Given the description of an element on the screen output the (x, y) to click on. 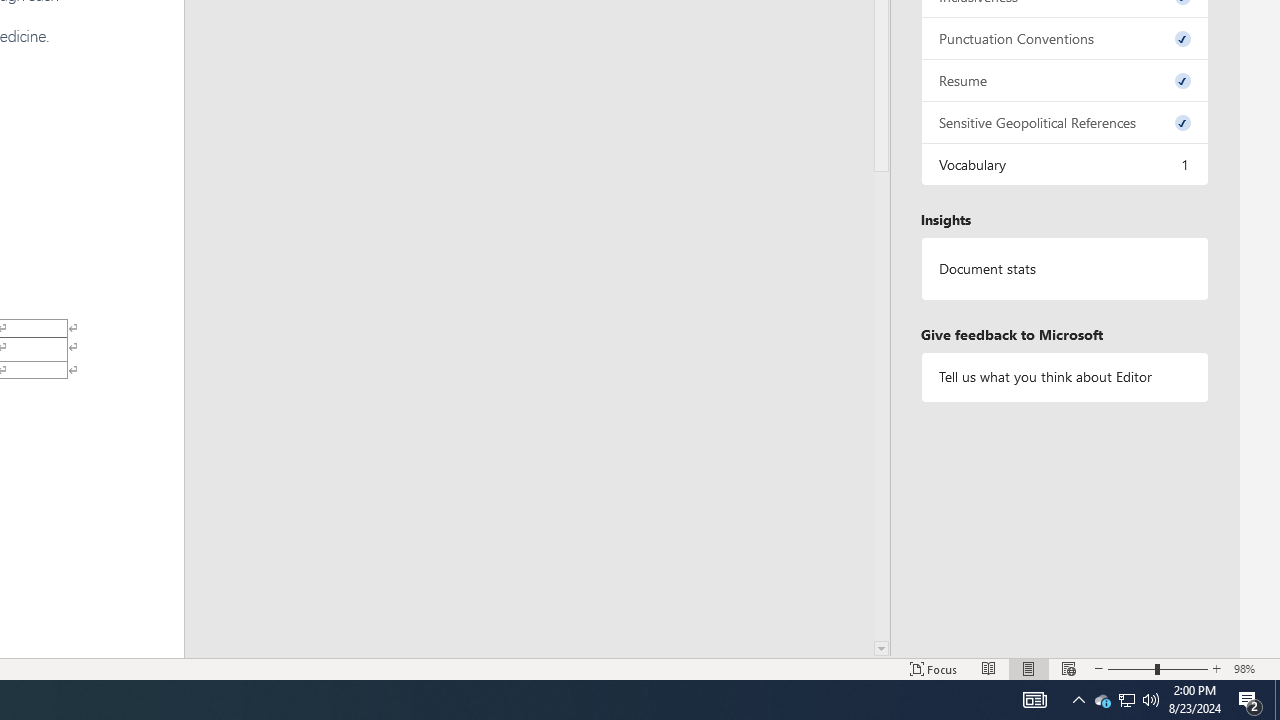
Document statistics (1064, 269)
Zoom (1158, 668)
Resume, 0 issues. Press space or enter to review items. (1064, 79)
Tell us what you think about Editor (1064, 376)
Vocabulary, 1 issue. Press space or enter to review items. (1064, 164)
